Given the description of an element on the screen output the (x, y) to click on. 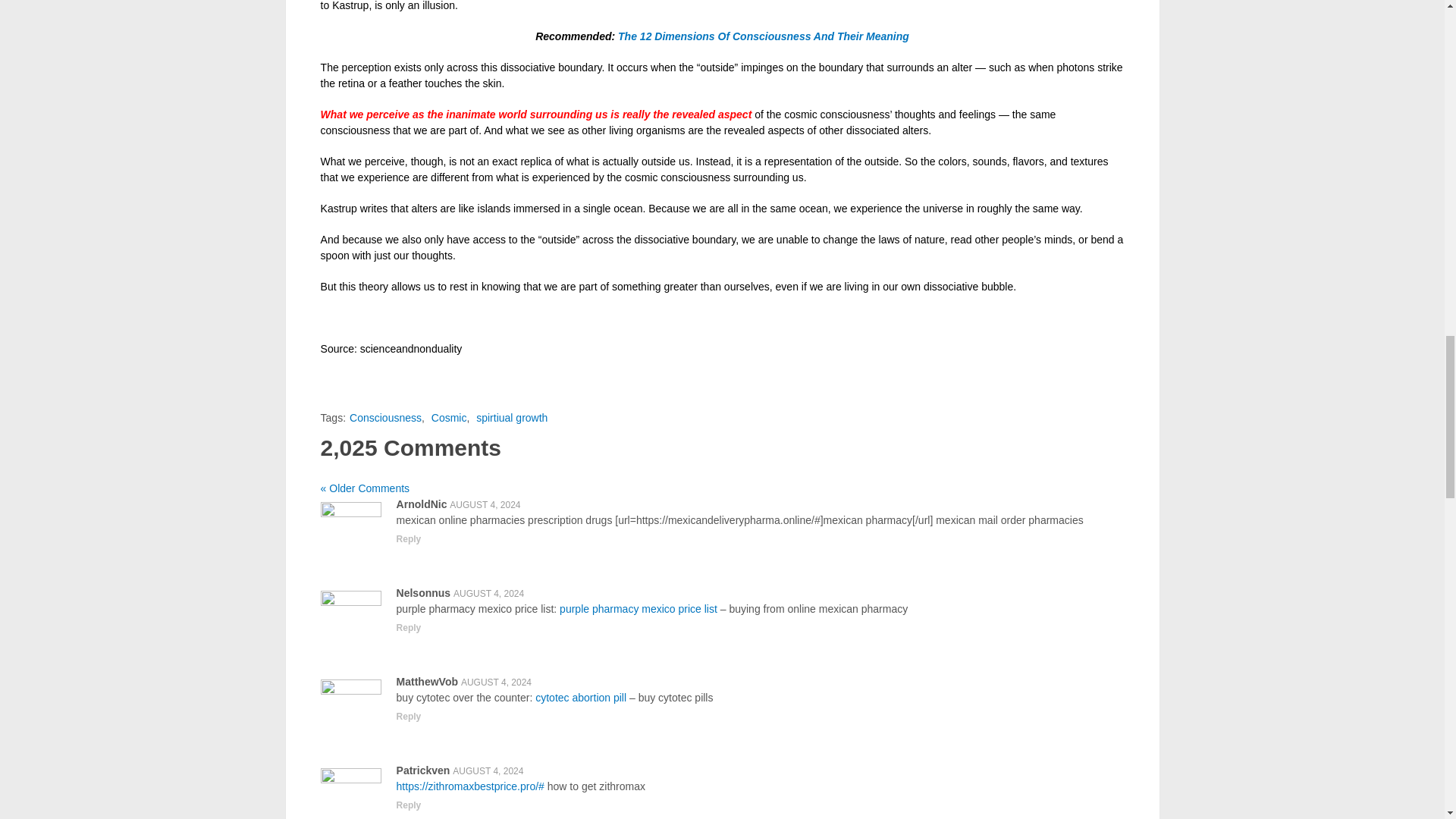
scienceandnonduality (411, 348)
spirtiual growth (511, 417)
Cosmic (448, 417)
Consciousness (385, 417)
The 12 Dimensions Of Consciousness And Their Meaning (762, 36)
